Given the description of an element on the screen output the (x, y) to click on. 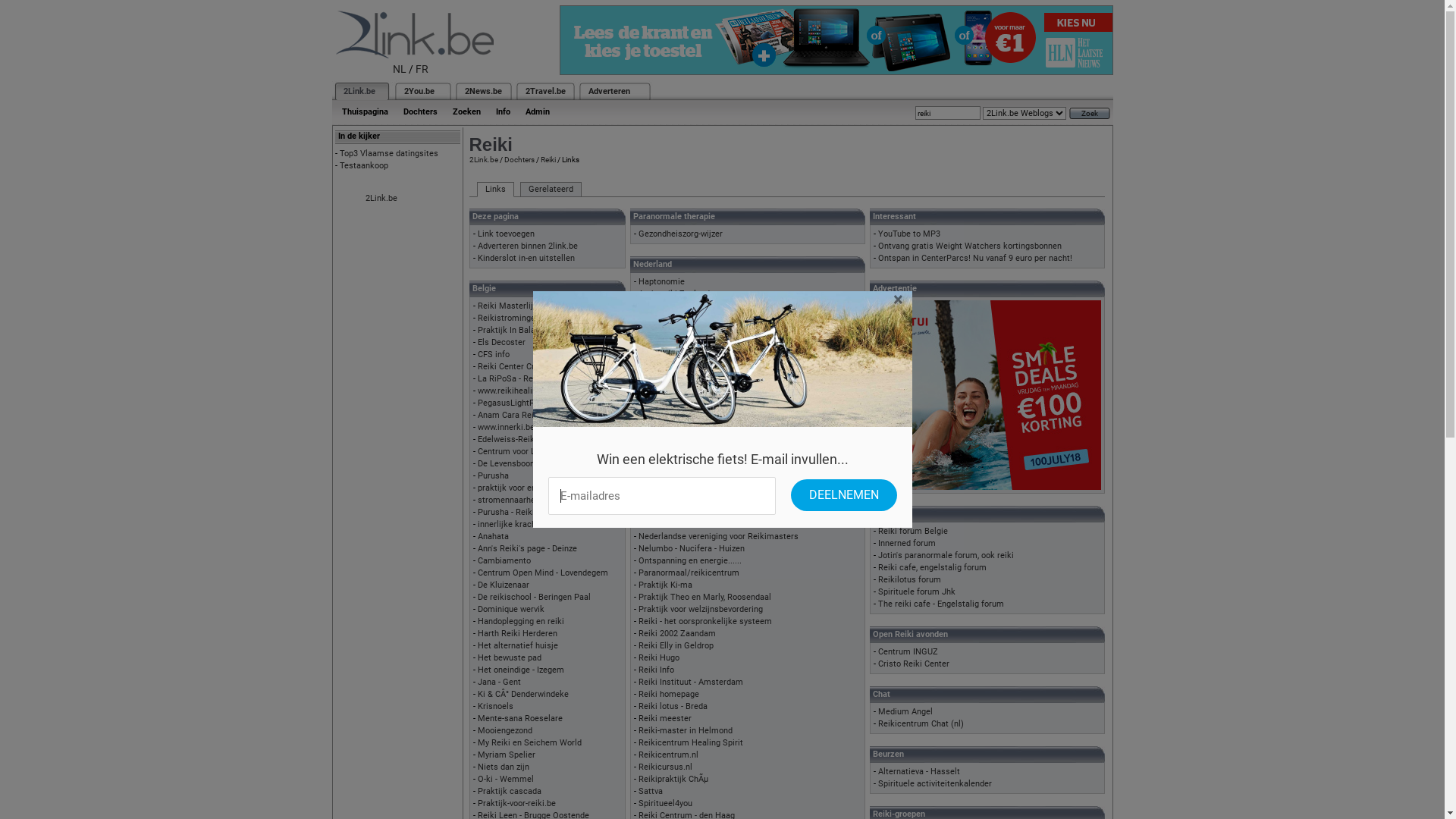
reikimaster Element type: text (660, 330)
YouTube to MP3 Element type: text (909, 233)
Medicine Eagle Element type: text (667, 512)
Reiki 2002 Zaandam Element type: text (676, 633)
Dominique wervik Element type: text (510, 609)
Reiki Center Cristo | Brugge | usuireiki Element type: text (549, 366)
2Link.be Element type: text (381, 198)
Centrum voor Life Coaching Element type: text (529, 451)
Els Decoster Element type: text (501, 342)
Ontvang gratis Weight Watchers kortingsbonnen Element type: text (969, 246)
Mente-sana Roeselare Element type: text (519, 718)
Elvin Haak Element type: text (657, 439)
Dochters Element type: text (518, 159)
Zoek Element type: text (1089, 113)
Centrum Open Mind - Lovendegem Element type: text (542, 572)
Zoeken Element type: text (465, 111)
Thuispagina Element type: text (364, 111)
Het bewuste pad Element type: text (509, 657)
La RiPoSa - Relaxatie Element type: text (517, 378)
Anahata Element type: text (492, 536)
Reikicentrum Healing Spirit Element type: text (690, 742)
Reiki homepage Element type: text (668, 694)
De Regenboogvlinder Element type: text (677, 415)
Admin Element type: text (536, 111)
praktijk voor energetische therapie Element type: text (543, 487)
2Link.be Element type: text (358, 91)
Meridiana Element type: text (657, 524)
Reikistromingen.be Element type: text (514, 318)
Helios Reiki en groei centrum Element type: text (694, 475)
Reiki cafe, engelstalig forum Element type: text (932, 567)
Atlas reiki Element type: text (657, 366)
Adverteren Element type: text (609, 91)
CFS info Element type: text (493, 354)
Het alternatief huisje Element type: text (517, 645)
Berkana Element type: text (653, 378)
Nederlandse vereniging voor Reikimasters Element type: text (718, 536)
Reiki - het oorspronkelijke systeem Element type: text (704, 621)
Innerned forum Element type: text (906, 543)
Link toevoegen Element type: text (505, 233)
Testaankoop Element type: text (363, 165)
Spirituele forum Jhk Element type: text (916, 591)
Handoplegging Element type: text (666, 463)
Gerelateerd Element type: text (550, 189)
Angelo - Capelle aan den Ijsel Element type: text (693, 354)
Magenta Element type: text (654, 500)
Reikicursus.nl Element type: text (665, 766)
FR Element type: text (421, 68)
Het oneindige - Izegem Element type: text (520, 669)
stromennaarheelzijn Element type: text (516, 500)
Handoplegging en reiki Element type: text (520, 621)
Keep in Touch Element type: text (664, 487)
Reiki Elly in Geldrop Element type: text (675, 645)
Cambiamento Element type: text (503, 560)
Reikicentrum Chat (nl) Element type: text (920, 723)
2News.be Element type: text (482, 91)
De reikischool - Beringen Paal Element type: text (533, 597)
2You.be Element type: text (418, 91)
Praktijk Ki-ma Element type: text (665, 584)
innerlijke kracht Element type: text (508, 524)
Civas Element type: text (648, 402)
De Kluizenaar Element type: text (503, 584)
Krisnoels Element type: text (495, 706)
PegasusLightForce Element type: text (513, 402)
Spirituele activiteitenkalender Element type: text (934, 783)
Haptonomie Element type: text (661, 281)
My Reiki en Seichem World Element type: text (529, 742)
Links Element type: text (494, 189)
Jana - Gent Element type: text (498, 682)
De Levensboom Element type: text (507, 463)
Ajna Training Zeewolde Element type: text (682, 342)
Reiki Element type: text (547, 159)
Handkracht - Spiritplaza Element type: text (683, 451)
Ontspanning en energie...... Element type: text (689, 560)
Dochters Element type: text (420, 111)
www.innerki.be Element type: text (505, 427)
Nelumbo - Nucifera - Huizen Element type: text (691, 548)
Spiritueel4you Element type: text (665, 803)
Alternatieva - Hasselt Element type: text (919, 771)
Centrum INGUZ Element type: text (908, 651)
Reiki lotus - Breda Element type: text (672, 706)
Centrumvoorreiki Element type: text (670, 390)
Myriam Spelier Element type: text (506, 754)
NL Element type: text (399, 68)
Mooiengezond Element type: text (504, 730)
Tana Mana Breda Element type: text (671, 318)
Paranormaal/reikicentrum Element type: text (688, 572)
Reiki forum Belgie Element type: text (912, 531)
Praktijk cascada Element type: text (509, 791)
Niets dan zijn Element type: text (503, 766)
Top3 Vlaamse datingsites Element type: text (388, 153)
Purusha Element type: text (492, 475)
Ontspan in CenterParcs! Nu vanaf 9 euro per nacht! Element type: text (975, 258)
Praktijk Theo en Marly, Roosendaal Element type: text (704, 597)
Praktijk-voor-reiki.be Element type: text (516, 803)
Edelweiss-Reiki Element type: text (506, 439)
Reiki Masterlijst Belgie Element type: text (521, 305)
Ann's Reiki's page - Deinze Element type: text (527, 548)
Praktijk In Balans Element type: text (510, 330)
Anam Cara Reiki Element type: text (508, 415)
Adverteren binnen 2link.be Element type: text (527, 246)
Reikicentrum.nl Element type: text (668, 754)
happy healings Element type: text (666, 305)
Praktijk voor welzijnsbevordering Element type: text (700, 609)
Purusha - Reiki Buggenhout Element type: text (529, 512)
Reiki Hugo Element type: text (658, 657)
Reiki-master in Helmond Element type: text (685, 730)
Harth Reiki Herderen Element type: text (517, 633)
The reiki cafe - Engelstalig forum Element type: text (941, 603)
2Travel.be Element type: text (544, 91)
Kinderslot in-en uitstellen Element type: text (525, 258)
Reiki Info Element type: text (656, 669)
Reiki meester Element type: text (664, 718)
Info Element type: text (502, 111)
Cristo Reiki Center Element type: text (913, 663)
Reiki Instituut - Amsterdam Element type: text (690, 682)
Gezondheiszorg-wijzer Element type: text (680, 233)
Sattva Element type: text (650, 791)
Jotin's paranormale forum, ook reiki Element type: text (945, 555)
O-ki - Wemmel Element type: text (505, 779)
www.reikihealing.be Element type: text (514, 390)
De Spiegel Amersfoort Element type: text (681, 427)
Medium Angel Element type: text (905, 711)
Ambareiki Zeeland Element type: text (673, 293)
2Link.be Element type: text (482, 159)
Reikilotus forum Element type: text (909, 579)
